Given the description of an element on the screen output the (x, y) to click on. 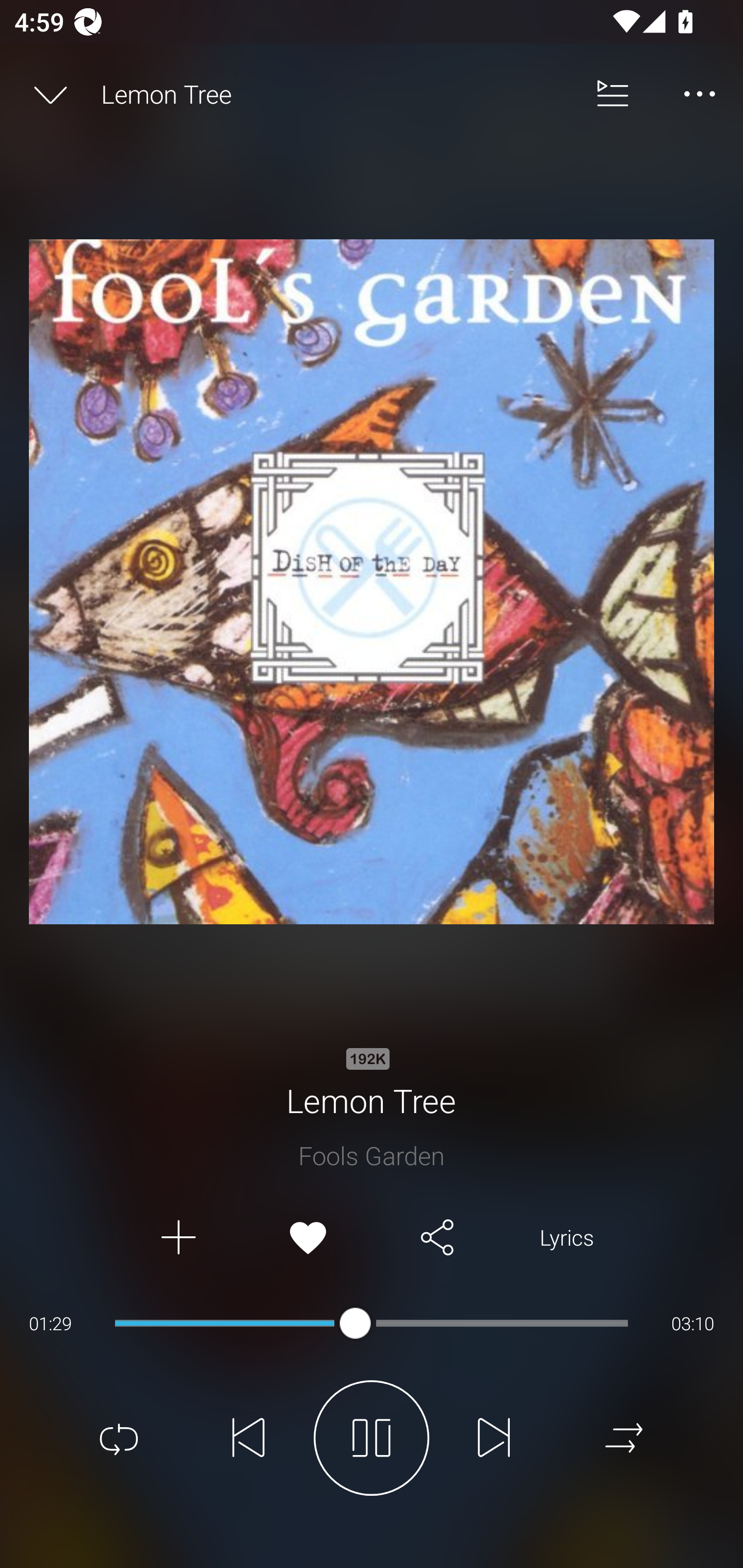
縮小播放介面 (50, 93)
現正播放清單 (612, 93)
更多操作選項 (699, 93)
Fools Garden (371, 1155)
加入到新歌單 (177, 1237)
加入收藏, 已加入 (307, 1237)
Lyrics (566, 1237)
暫停播放 (371, 1437)
不重複播放 (118, 1438)
播放前一首 (248, 1438)
播放下一首 (494, 1438)
循序播放 (624, 1438)
